Given the description of an element on the screen output the (x, y) to click on. 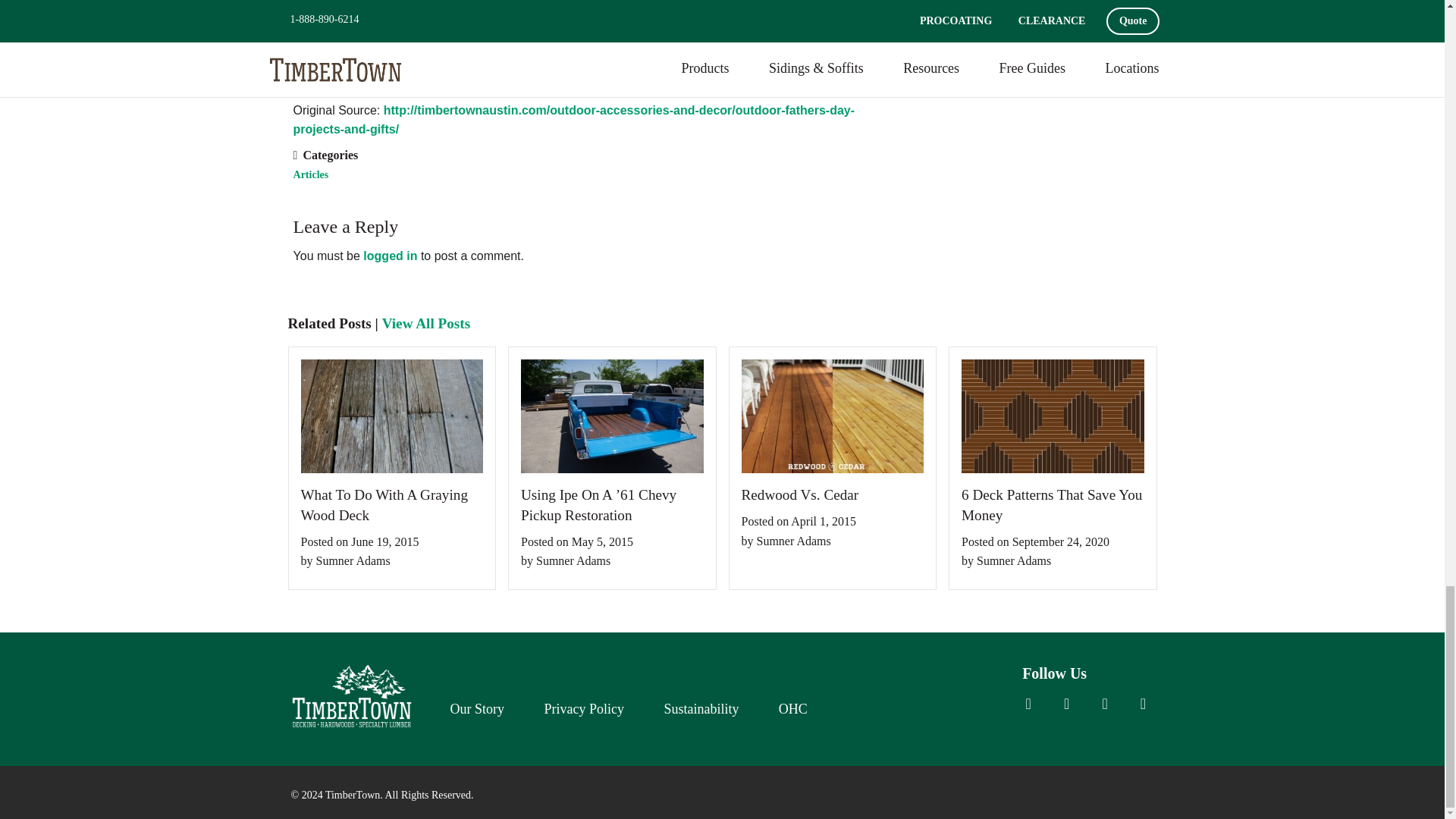
6 Deck Patterns That Save You Money (1052, 505)
What To Do With A Graying Wood Deck (391, 505)
Redwood Vs. Cedar (832, 495)
